Given the description of an element on the screen output the (x, y) to click on. 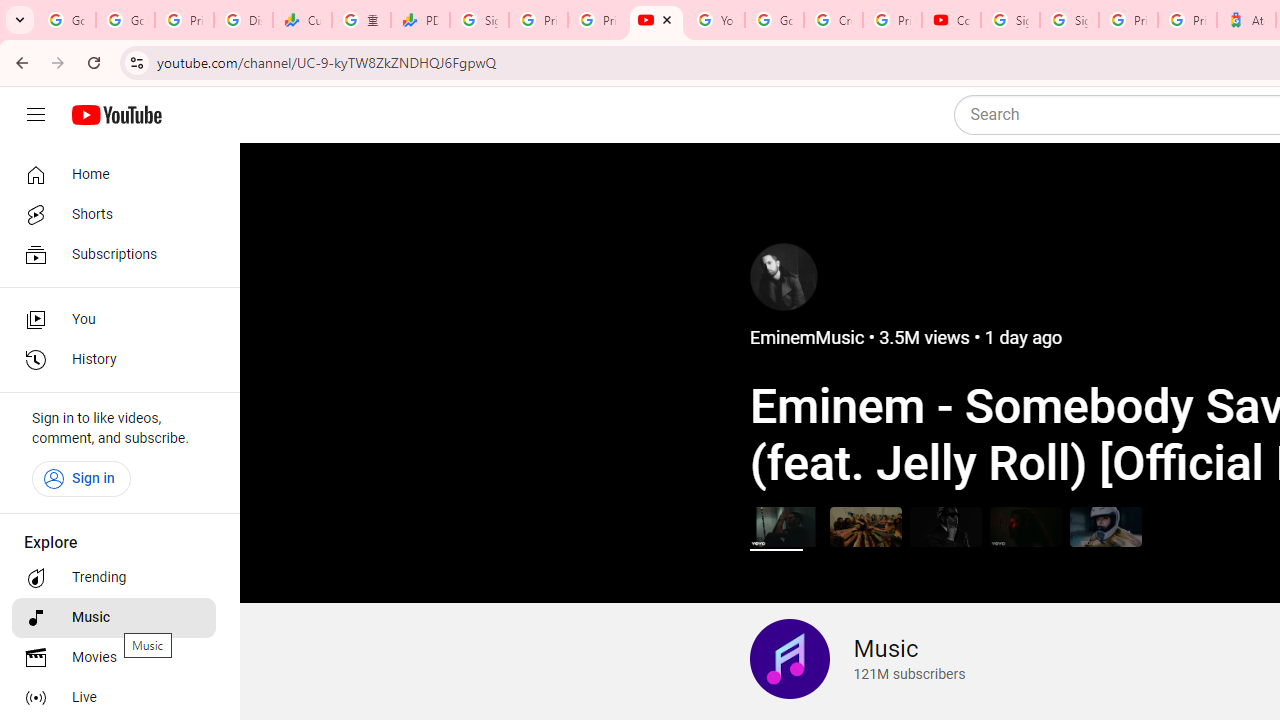
Live (113, 697)
Sign in - Google Accounts (1010, 20)
Sign in - Google Accounts (479, 20)
Sign in - Google Accounts (1069, 20)
Music (113, 617)
Shorts (113, 214)
Create your Google Account (832, 20)
A$AP Rocky - HIGHJACK (Official Video) (944, 526)
YouTube (715, 20)
Google Workspace Admin Community (66, 20)
